Given the description of an element on the screen output the (x, y) to click on. 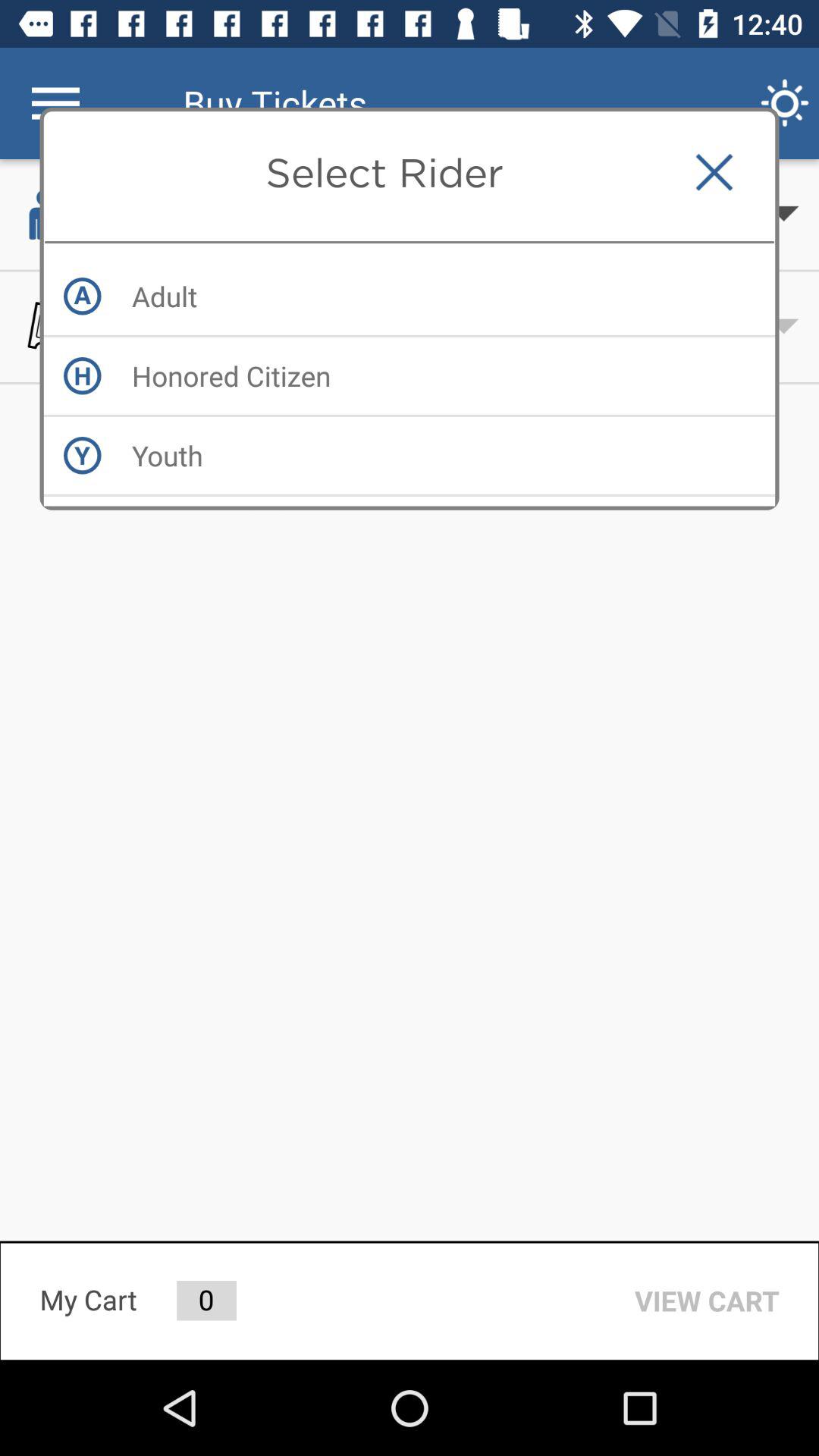
launch select rider item (384, 172)
